Given the description of an element on the screen output the (x, y) to click on. 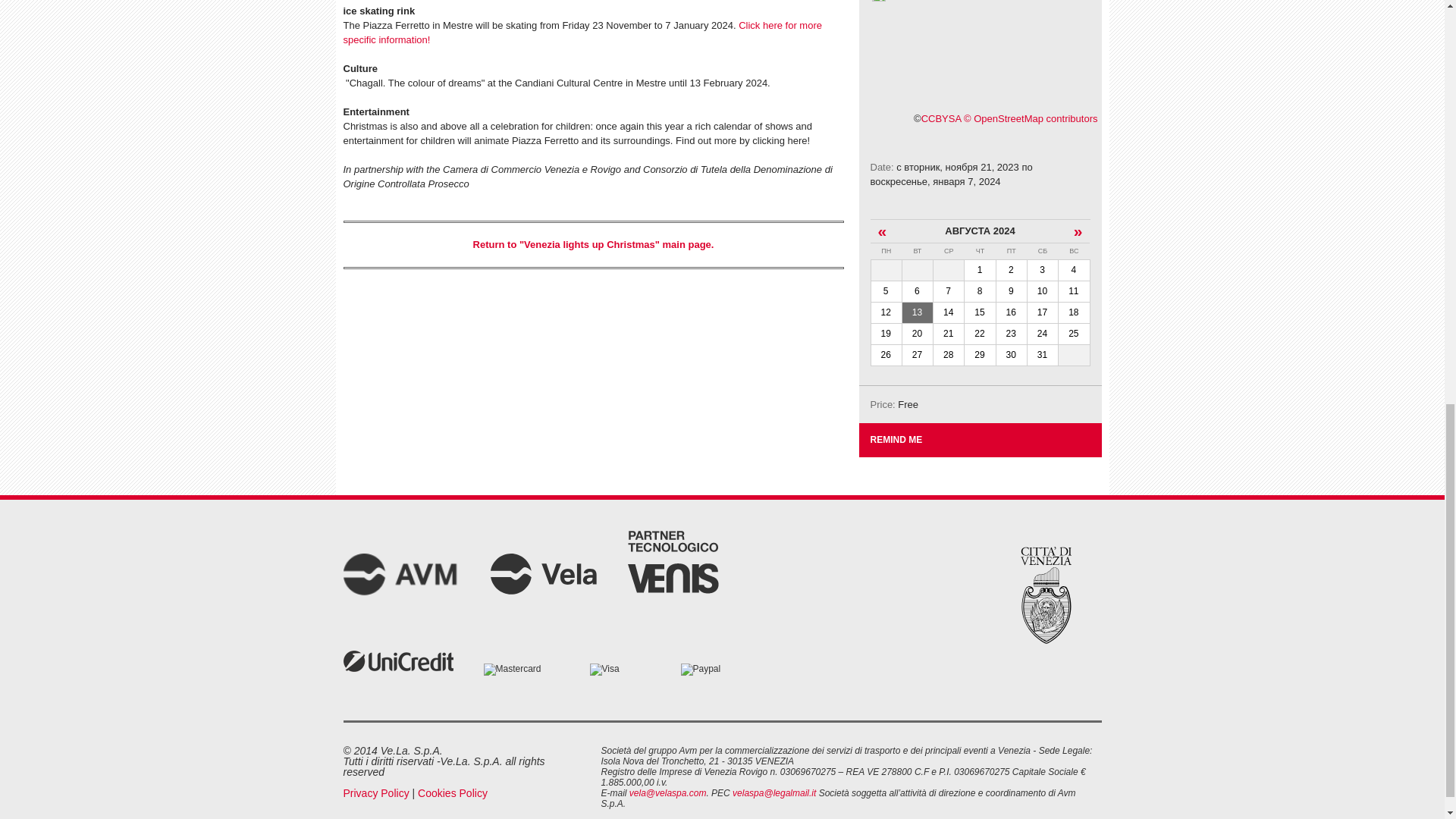
Return to "Venezia lights up Christmas" main page. (593, 244)
Click here for more specific information! (581, 32)
CCBYSA (940, 118)
